Given the description of an element on the screen output the (x, y) to click on. 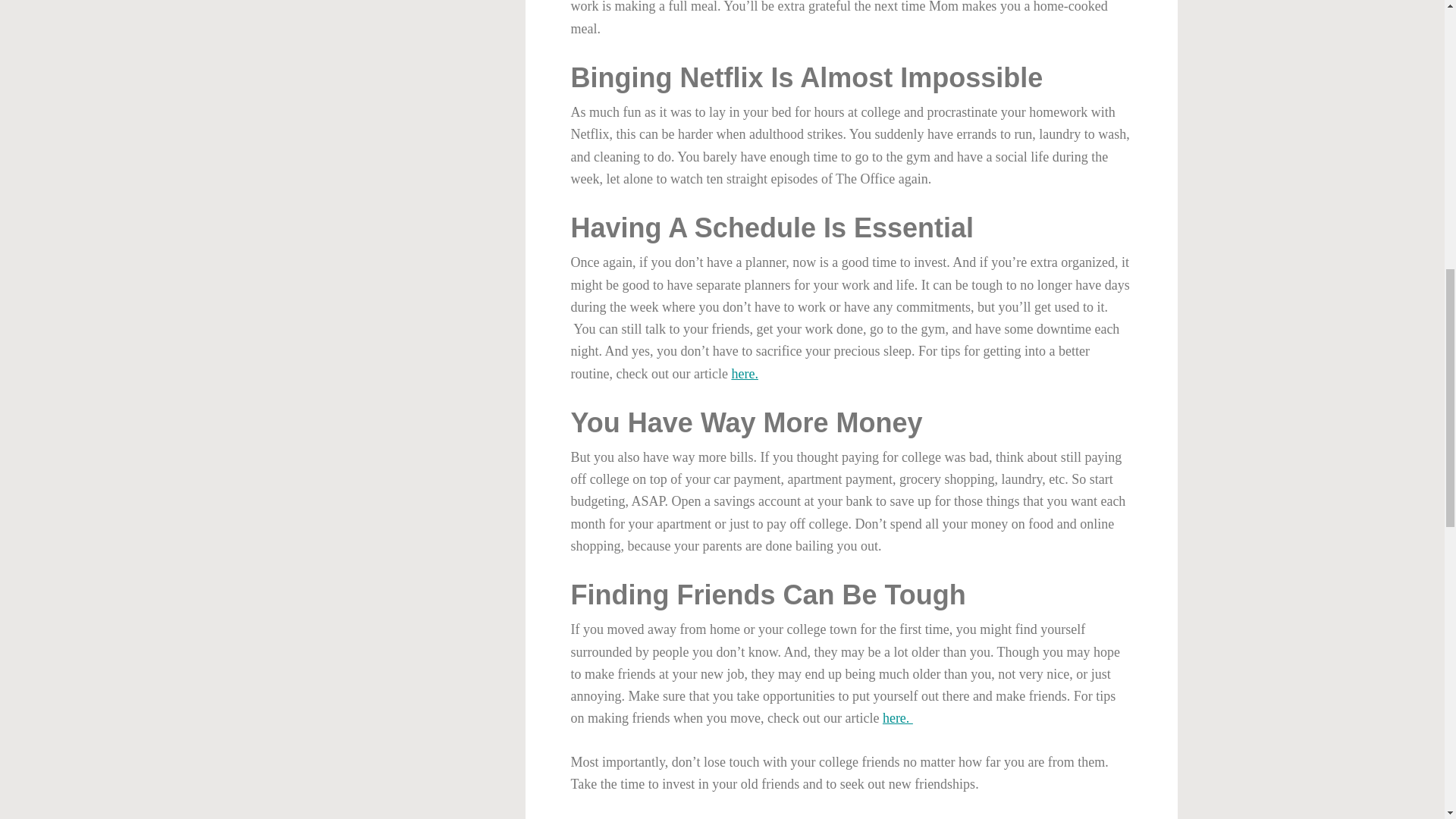
here. (743, 372)
here.  (897, 717)
